Given the description of an element on the screen output the (x, y) to click on. 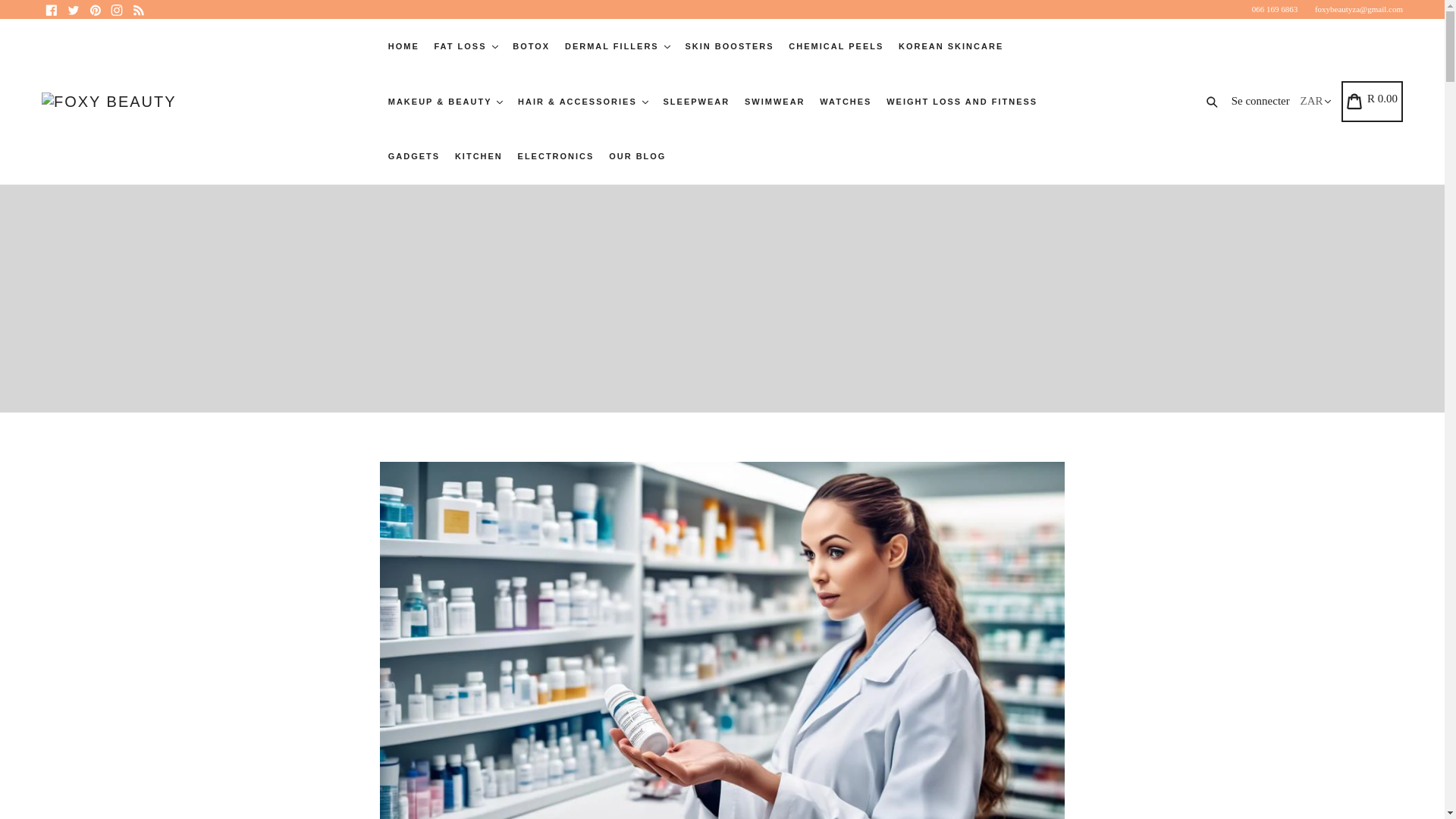
Foxy Beauty sur Instagram (116, 9)
Foxy Beauty sur Pinterest (94, 9)
Foxy Beauty sur Twitter (73, 9)
Foxy Beauty sur Facebook (51, 9)
